Given the description of an element on the screen output the (x, y) to click on. 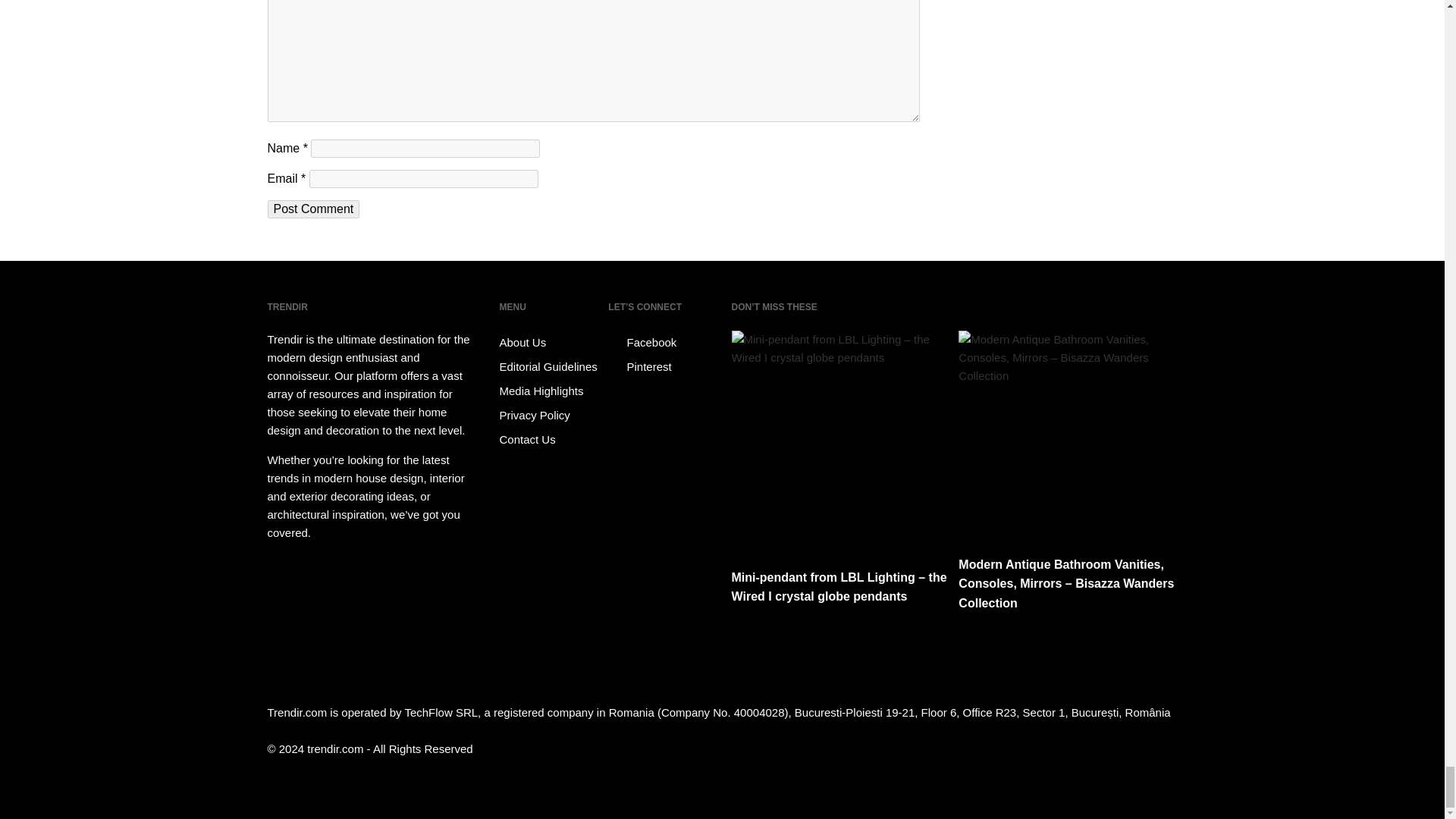
Post Comment (312, 208)
About Us - Trendir (551, 341)
Trendir Editorial Guidelines (551, 365)
Media Highlights - Trendir (551, 390)
